Given the description of an element on the screen output the (x, y) to click on. 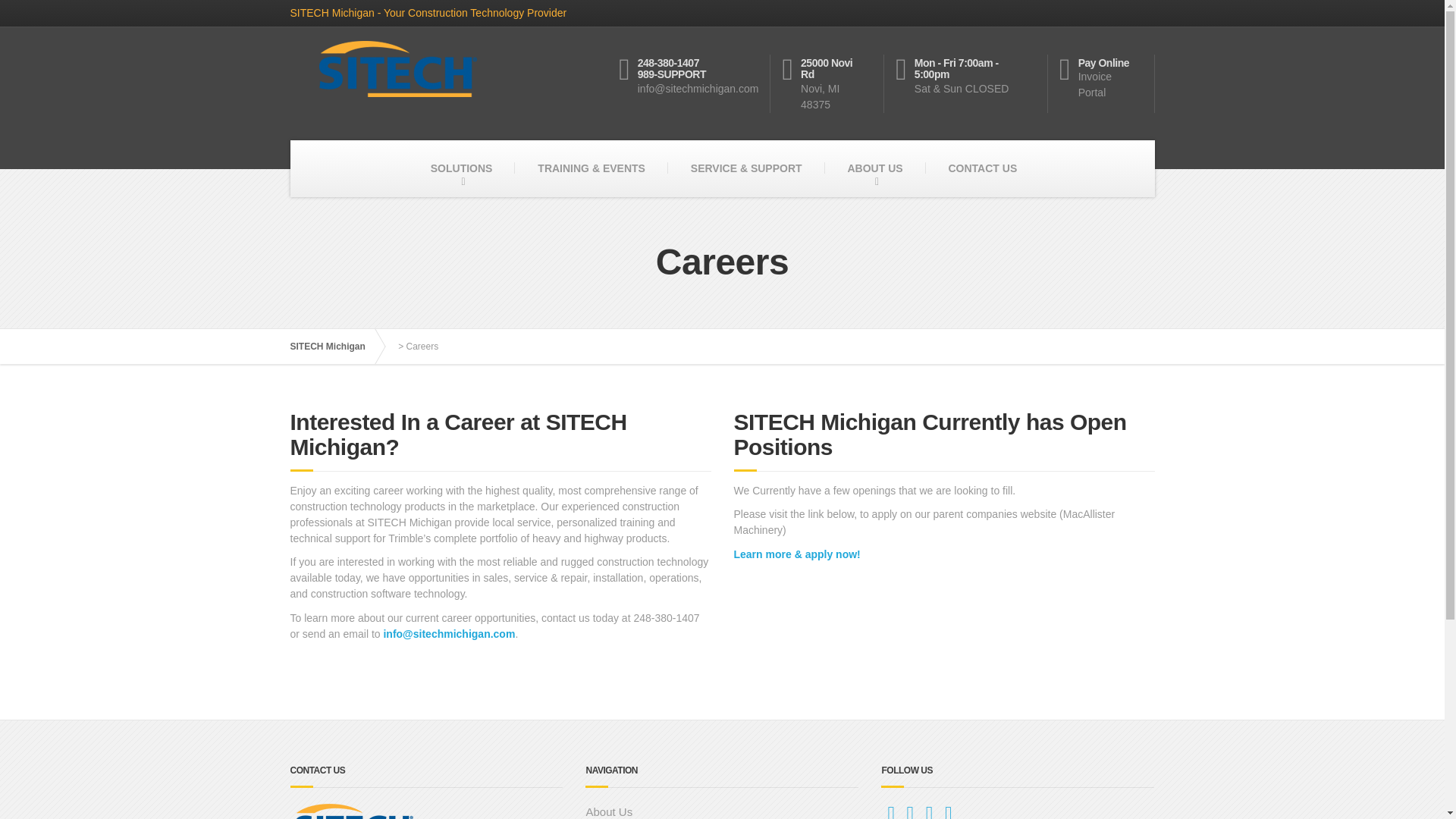
CONTACT US (981, 168)
ABOUT US (1106, 83)
SOLUTIONS (874, 168)
About Us (461, 168)
Go to SITECH Michigan. (722, 809)
SITECH Michigan (334, 346)
